Given the description of an element on the screen output the (x, y) to click on. 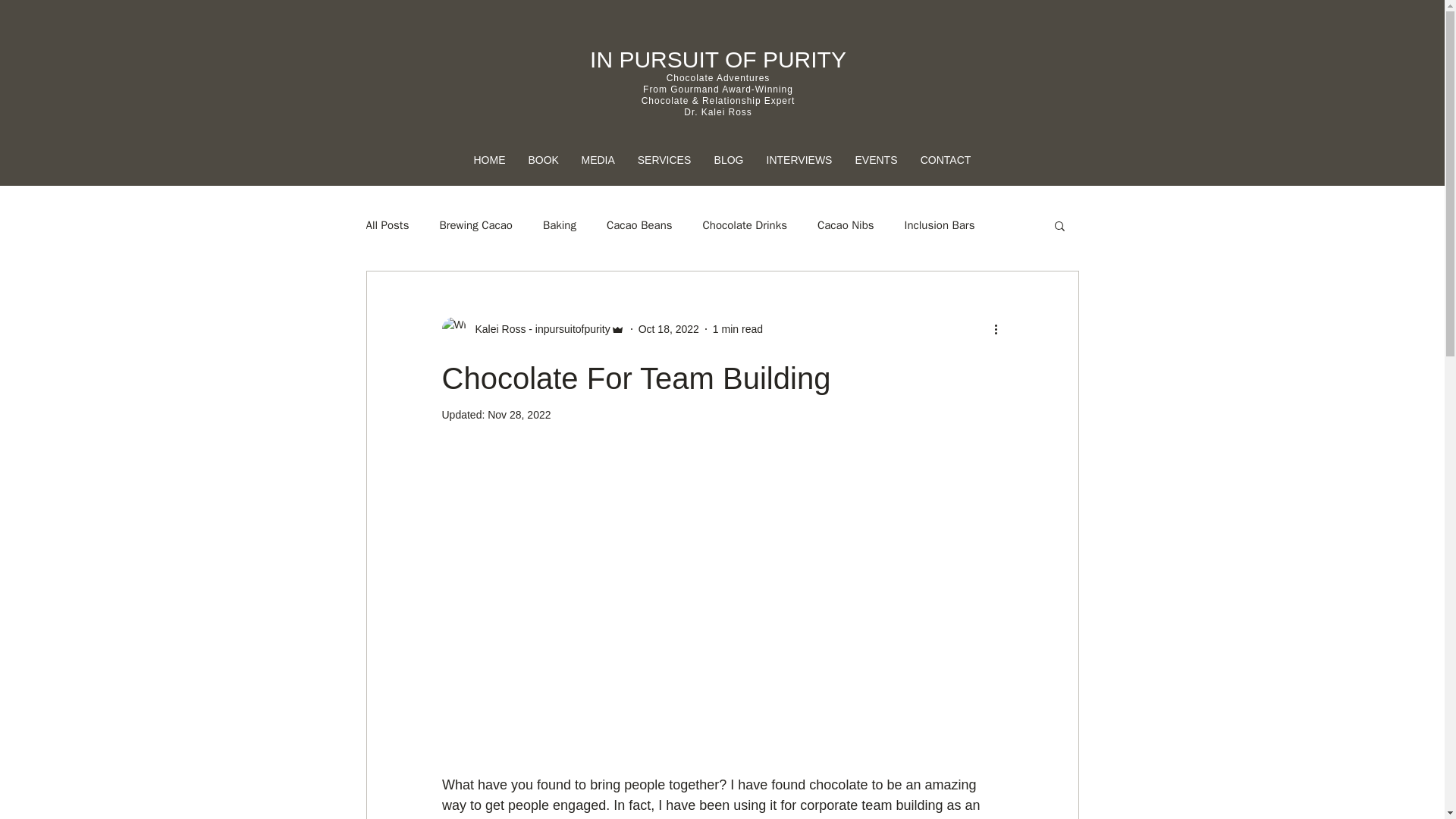
1 min read (737, 328)
All Posts (387, 225)
Chocolate Drinks (745, 225)
Inclusion Bars (939, 225)
CONTACT (944, 159)
Cacao Nibs (845, 225)
HOME (489, 159)
EVENTS (875, 159)
Cacao Beans (639, 225)
Brewing Cacao (475, 225)
